Given the description of an element on the screen output the (x, y) to click on. 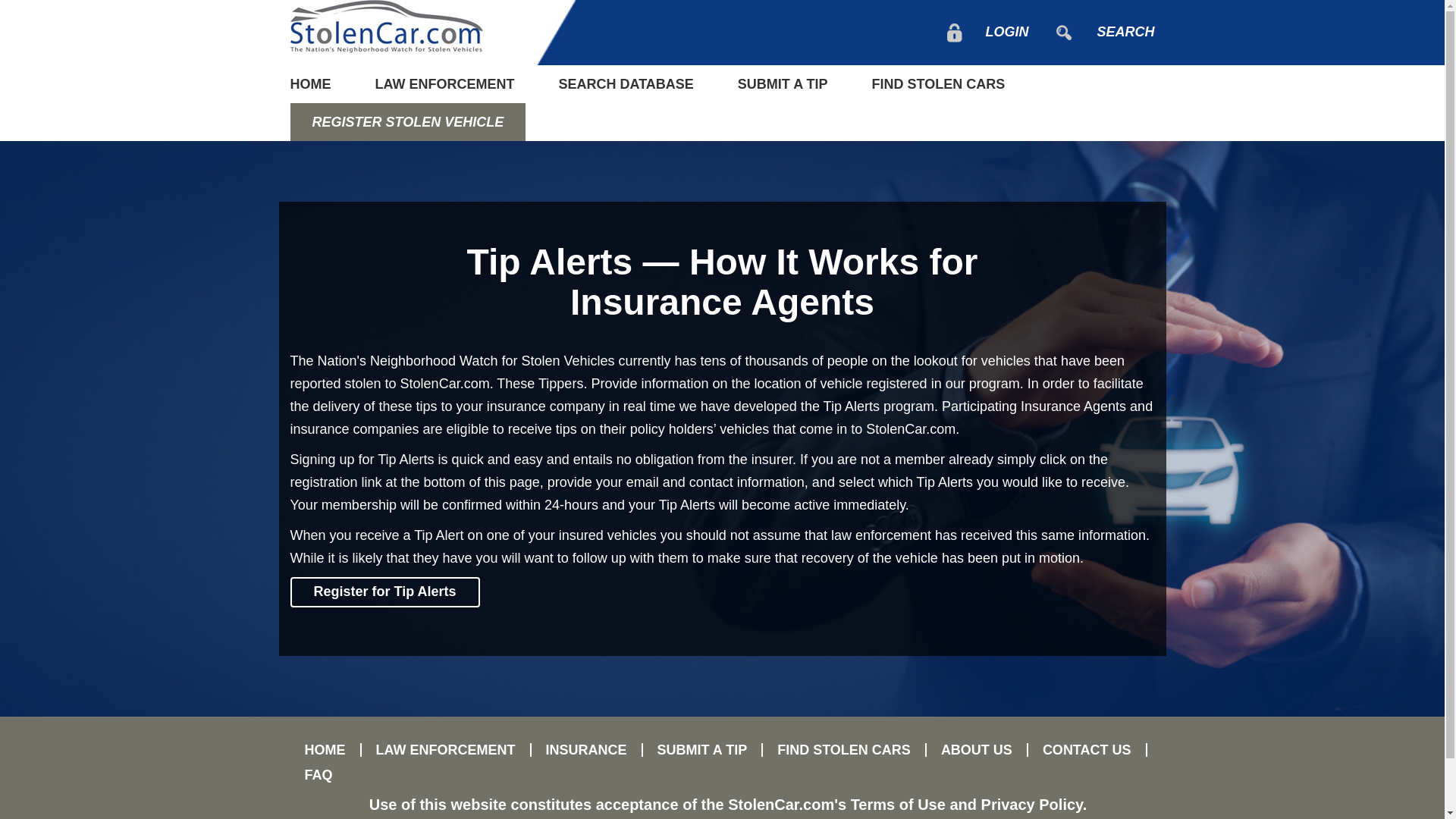
LAW ENFORCEMENT (445, 84)
FIND STOLEN CARS (844, 749)
SUBMIT A TIP (702, 749)
LAW ENFORCEMENT (445, 84)
FIND STOLEN CARS (938, 84)
INSURANCE (586, 749)
SUBMIT A TIP (702, 749)
HOME (320, 84)
home (320, 84)
REGISTER STOLEN VEHICLE (407, 121)
SUBMIT A TIP (783, 84)
INSURANCE (586, 749)
FAQ (310, 775)
Register for Tip Alerts (384, 592)
REGISTER STOLEN VEHICLE (407, 121)
